Given the description of an element on the screen output the (x, y) to click on. 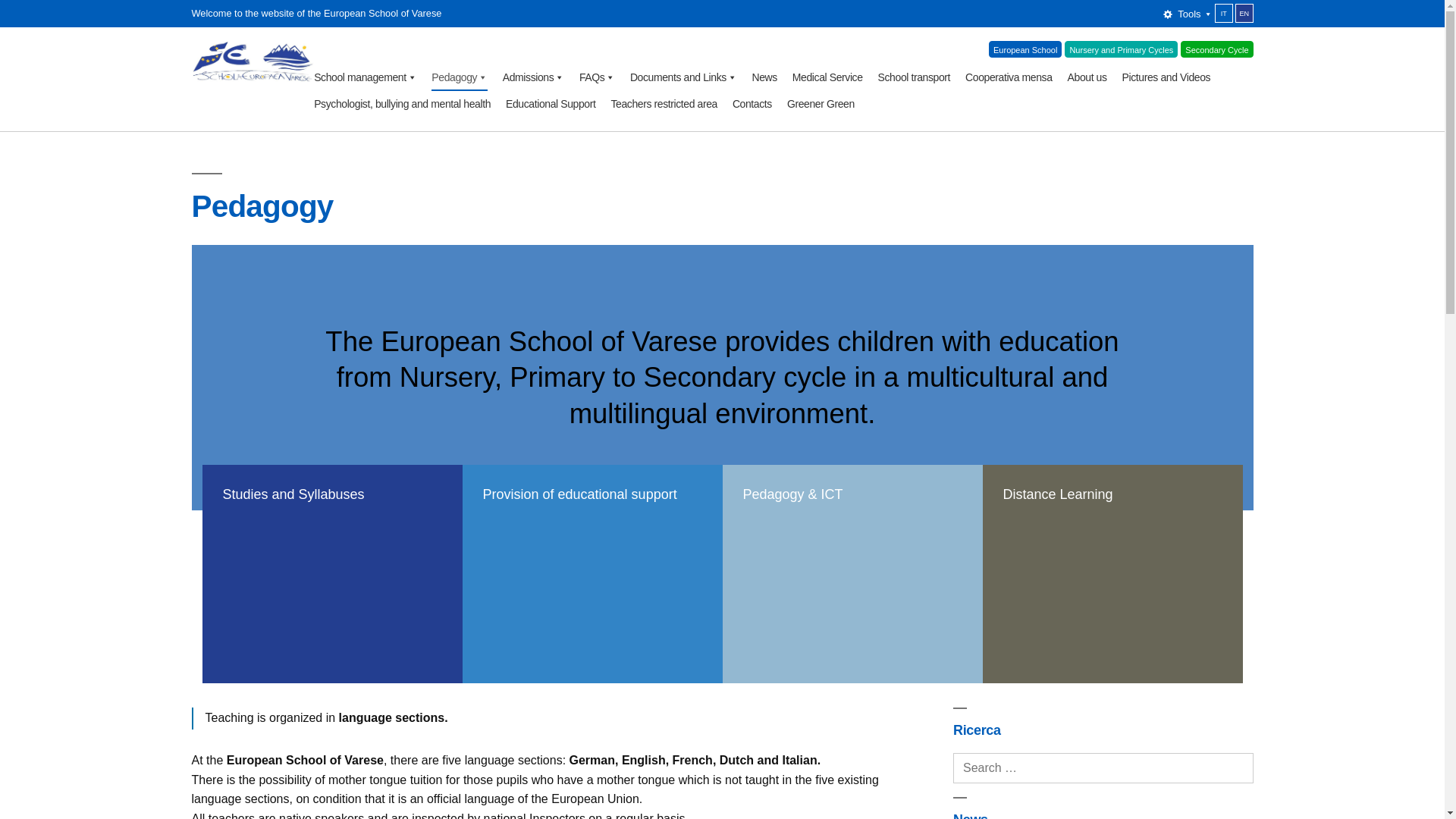
IT (1223, 13)
Admissions (533, 77)
European School (1024, 48)
Secondary Cycle (1216, 48)
Documents and Links (683, 77)
EN (1244, 13)
FAQs (596, 77)
School management (365, 77)
Nursery and Primary Cycles (1120, 48)
Tools (1187, 14)
Pedagogy (458, 77)
